Given the description of an element on the screen output the (x, y) to click on. 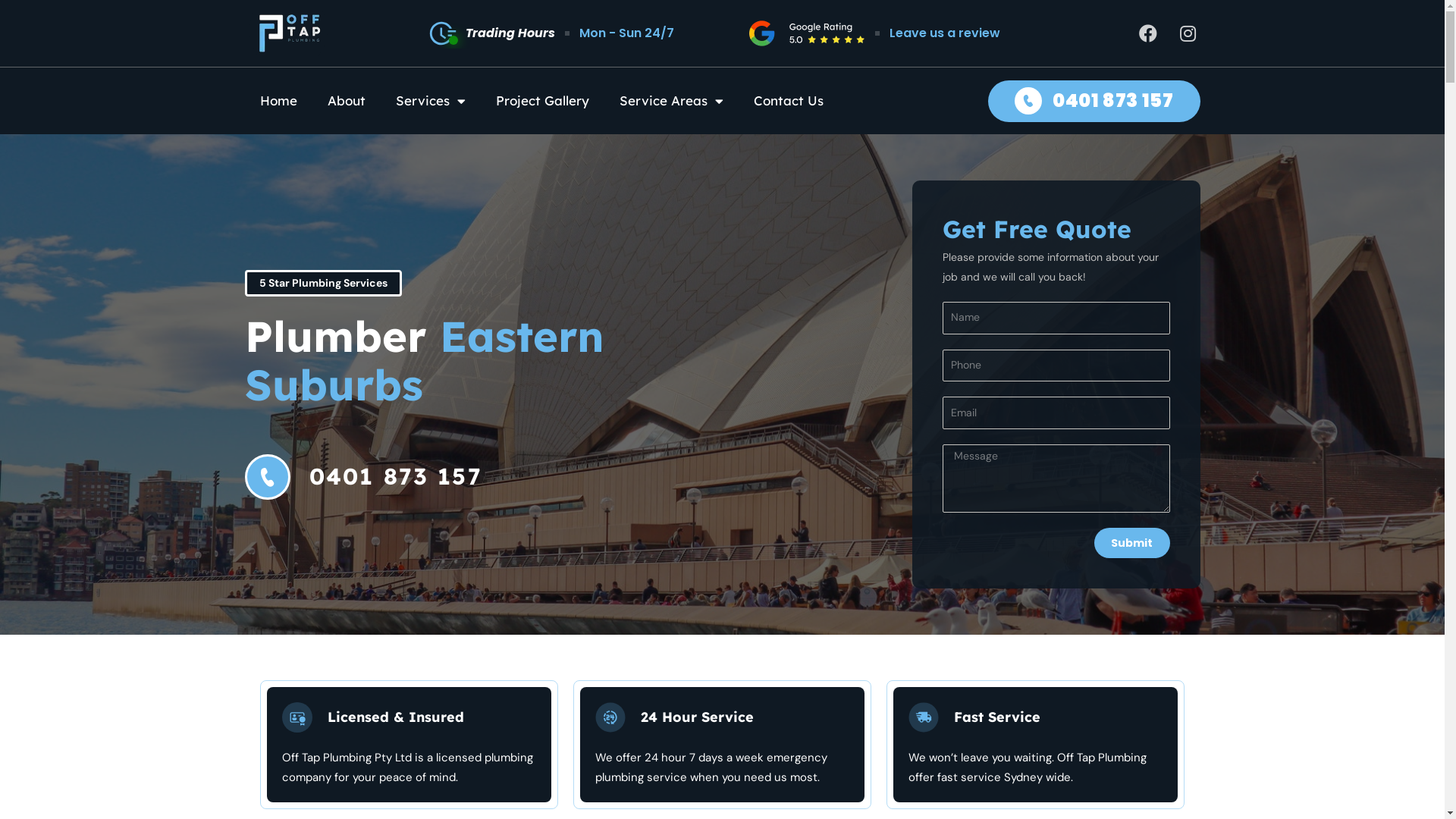
Services Element type: text (430, 100)
Project Gallery Element type: text (542, 100)
Trading Hours Element type: text (491, 33)
0401 873 157 Element type: text (479, 475)
Service Areas Element type: text (670, 100)
Contact Us Element type: text (788, 100)
Mon - Sun 24/7 Element type: text (626, 32)
0401 873 157 Element type: text (1093, 101)
Submit Element type: text (1131, 542)
About Element type: text (346, 100)
Home Element type: text (277, 100)
Leave us a review Element type: text (944, 32)
